Given the description of an element on the screen output the (x, y) to click on. 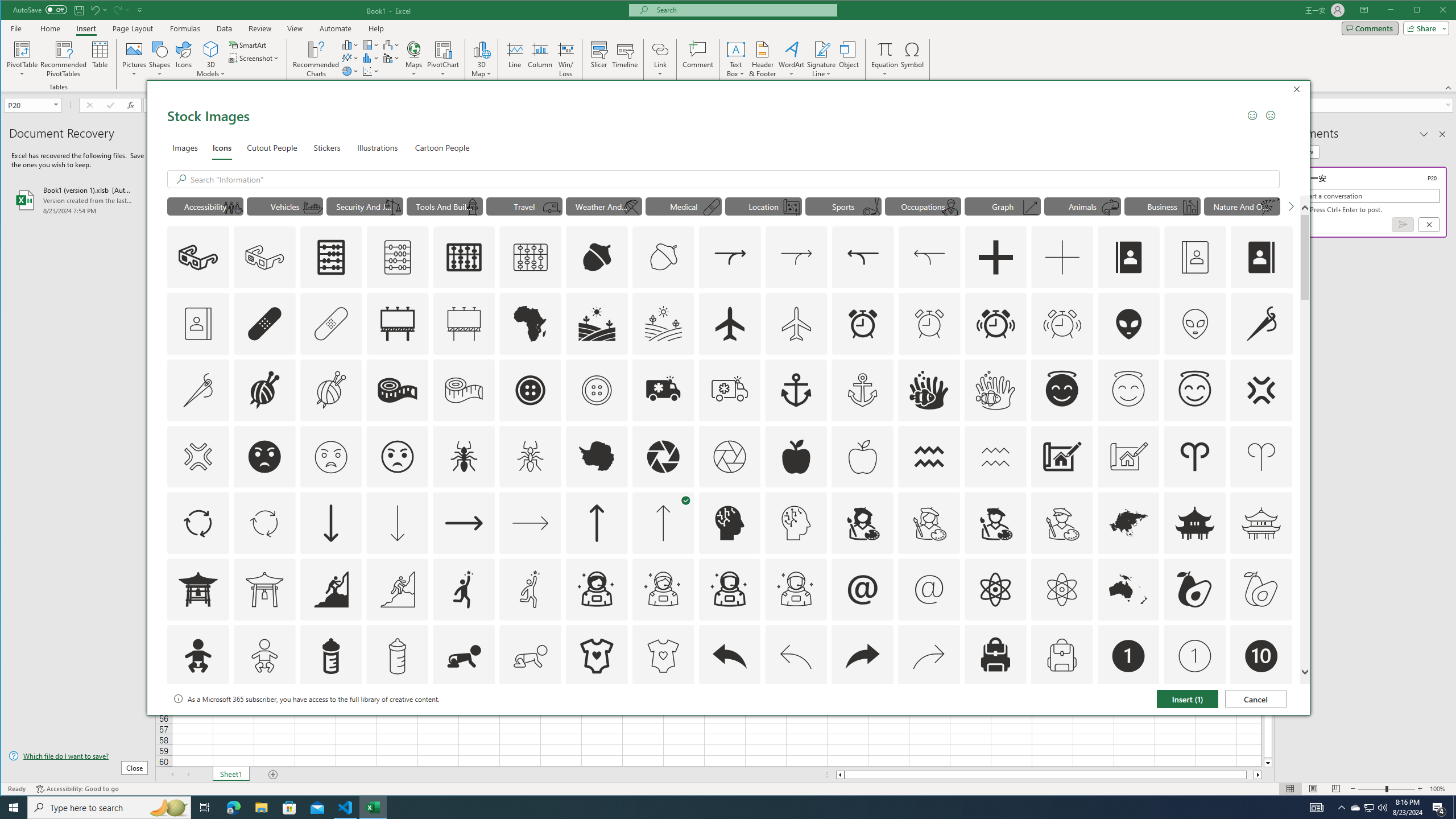
AutomationID: Icons (1260, 721)
AutomationID: Icons_Advertising_M (464, 323)
AutomationID: Icons_AlarmRinging (995, 323)
"Animals" Icons. (1355, 807)
AutomationID: Icons_Ambulance (1082, 206)
Thumbnail (663, 389)
Win/Loss (1283, 699)
AutomationID: Icons_ArtistFemale (565, 59)
"Medical" Icons. (863, 522)
AutomationID: Icons_ArrowDown_M (683, 206)
